Given the description of an element on the screen output the (x, y) to click on. 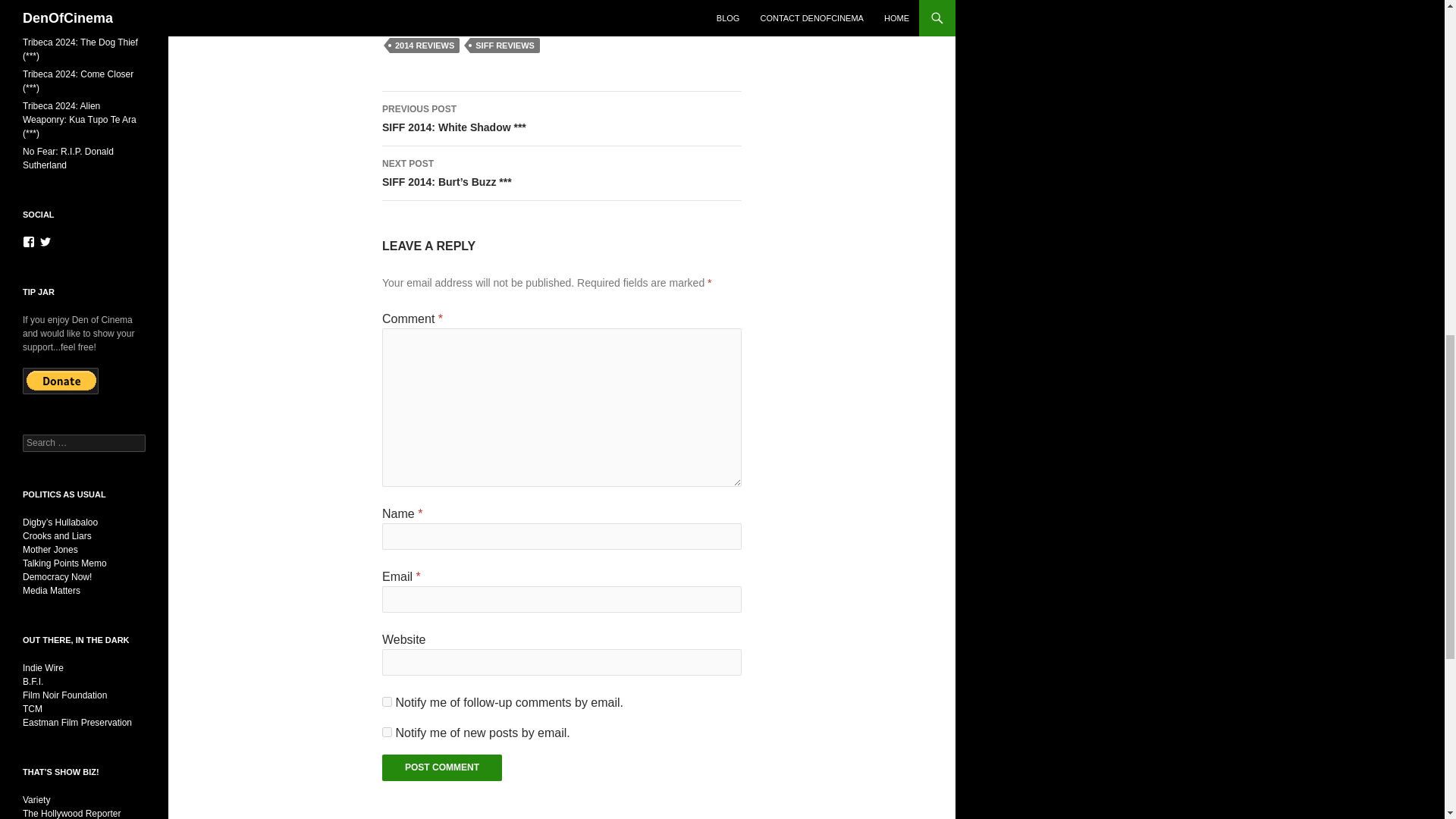
2014 REVIEWS (425, 45)
SIFF REVIEWS (505, 45)
Post Comment (441, 767)
subscribe (386, 732)
subscribe (386, 701)
Post Comment (441, 767)
